Given the description of an element on the screen output the (x, y) to click on. 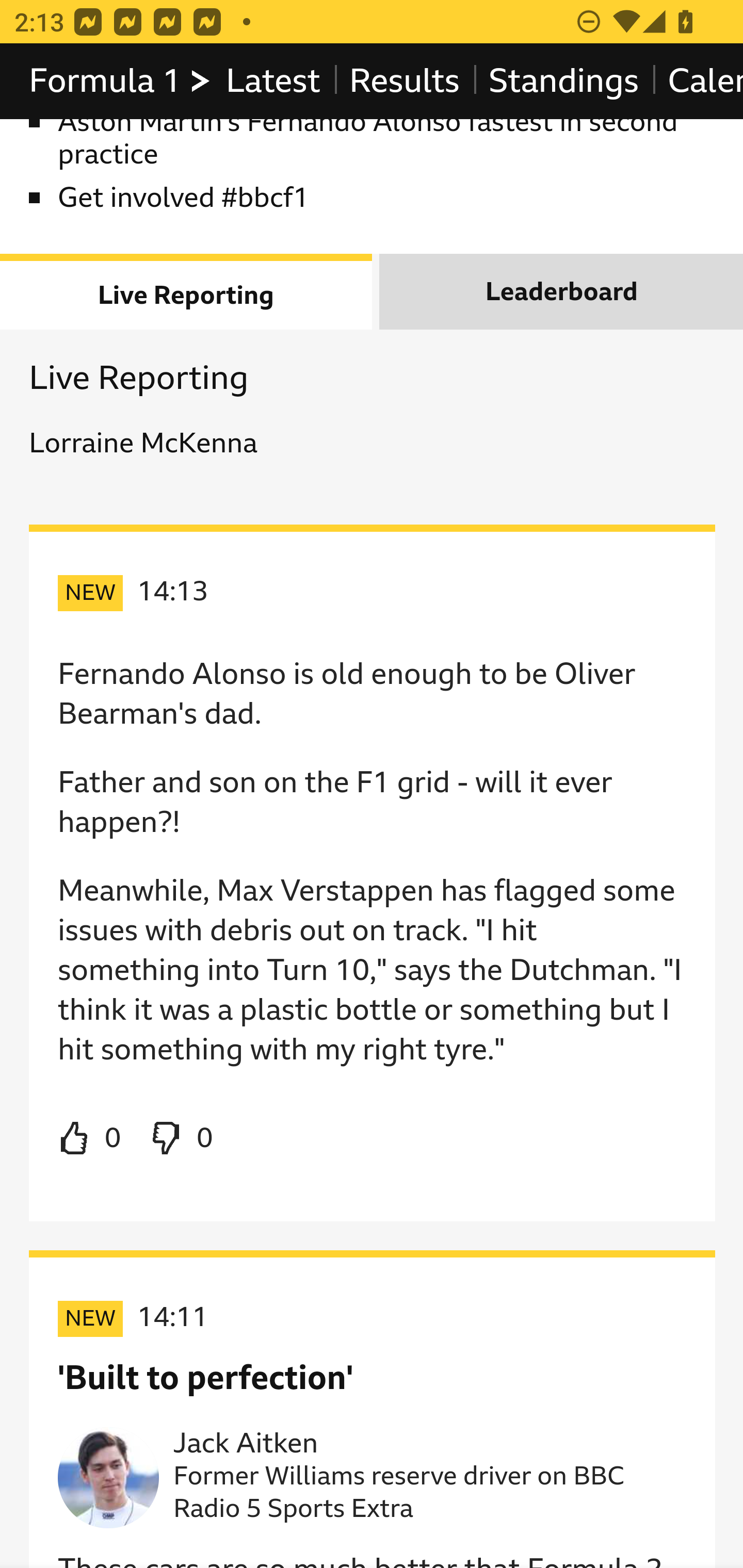
Live Reporting (186, 292)
Leaderboard (560, 292)
Like (89, 1138)
Dislike (180, 1138)
